Given the description of an element on the screen output the (x, y) to click on. 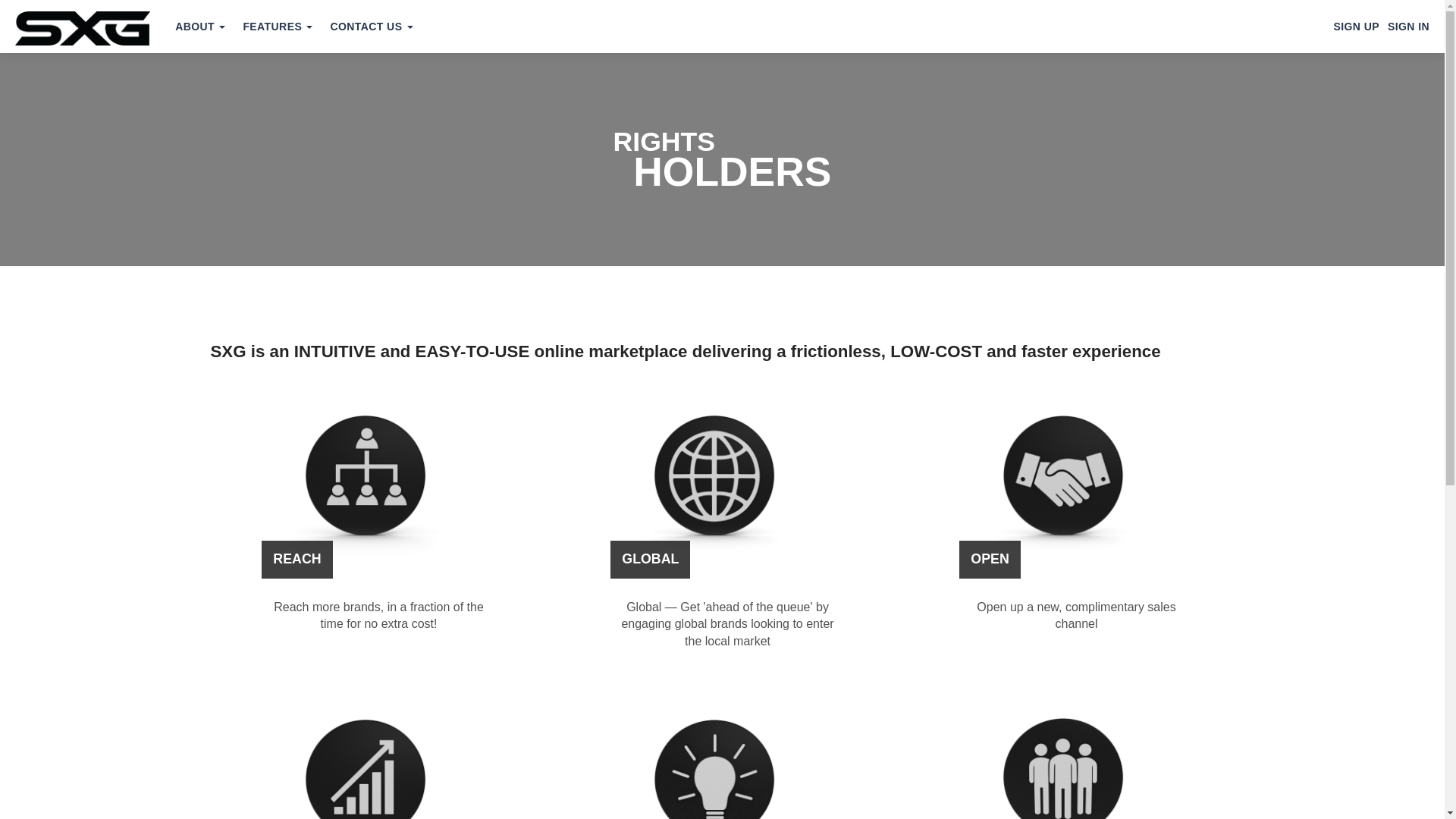
About (199, 26)
ABOUT (199, 26)
SIGN IN (1408, 26)
FEATURES (278, 26)
Contact Us (371, 26)
Features (278, 26)
CONTACT US (371, 26)
SIGN UP (1355, 26)
